Given the description of an element on the screen output the (x, y) to click on. 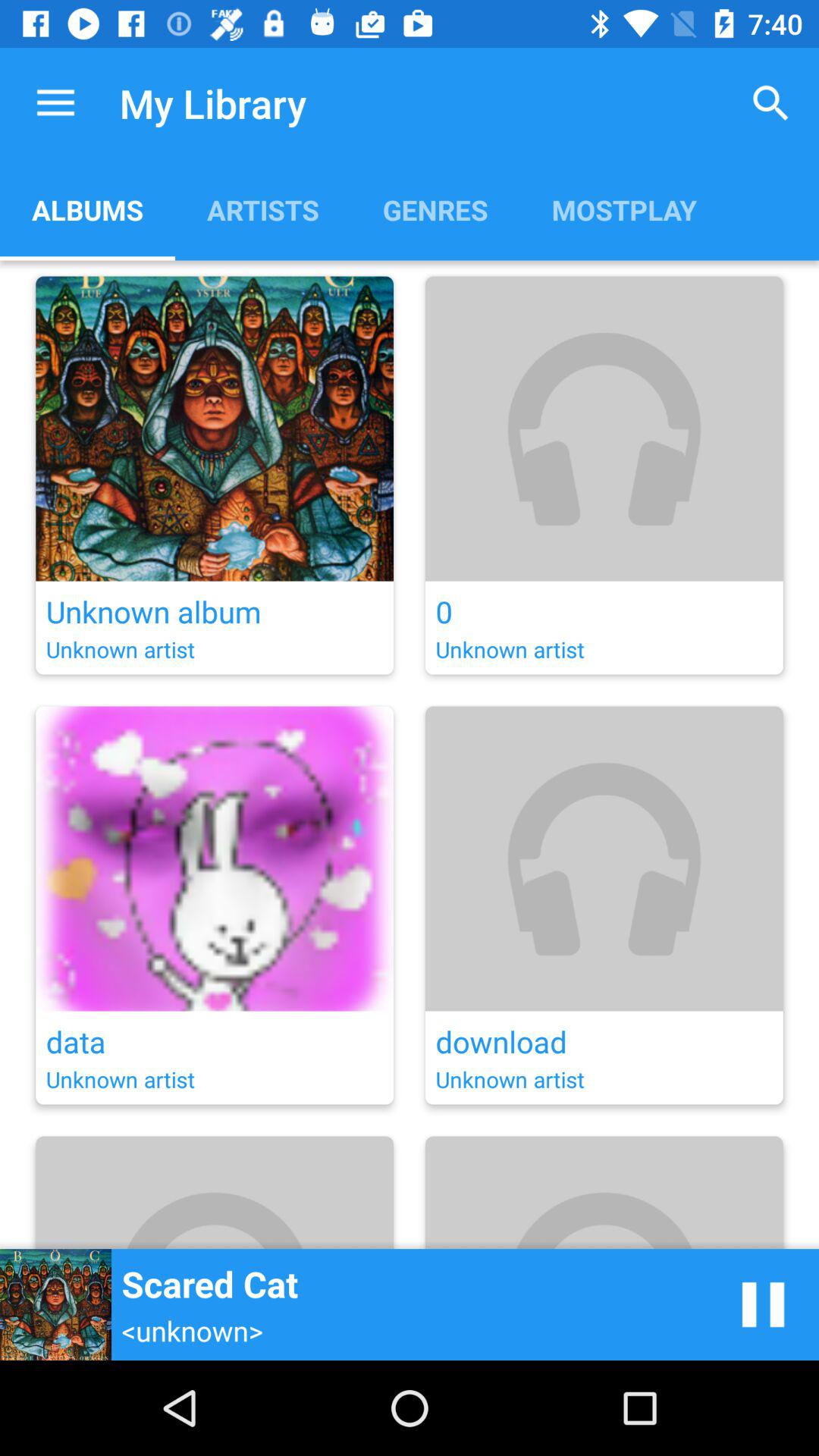
pause music (763, 1304)
